Given the description of an element on the screen output the (x, y) to click on. 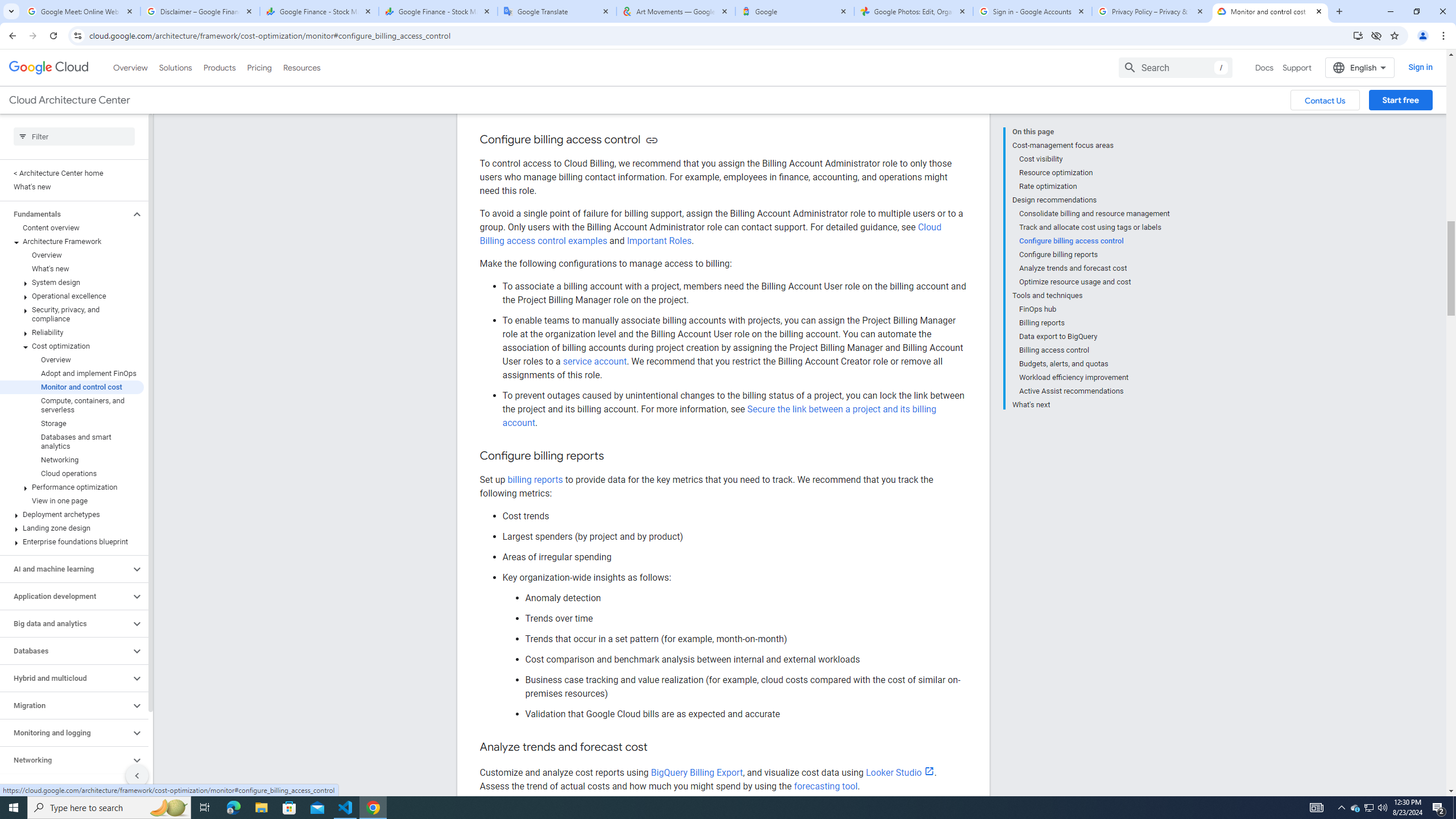
Databases (64, 650)
Install Google Cloud (1358, 35)
Operational excellence (72, 296)
